Given the description of an element on the screen output the (x, y) to click on. 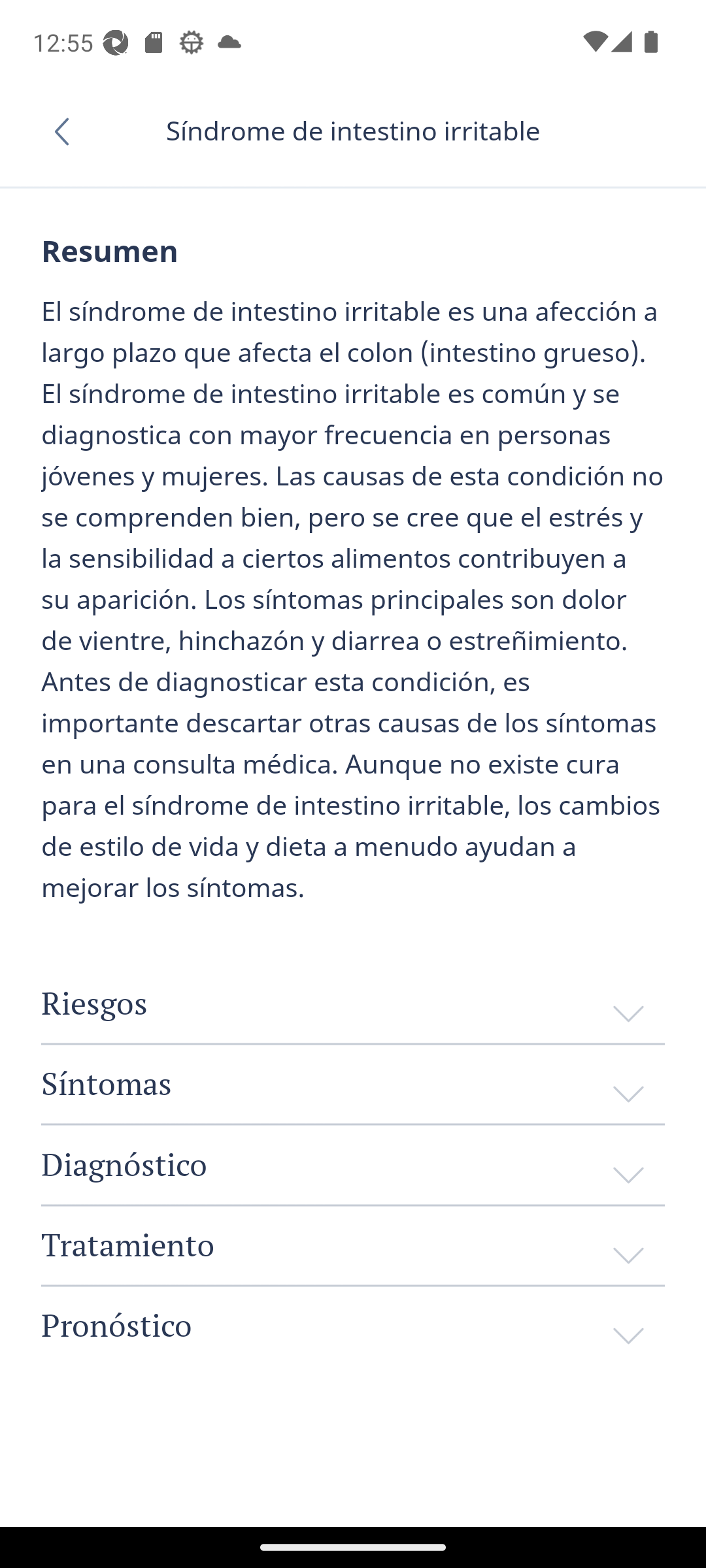
Go back, Navigates to the previous screen (68, 131)
Riesgos  (352, 1003)
Síntomas  (352, 1083)
Diagnóstico  (352, 1164)
Tratamiento  (352, 1244)
Pronóstico  (352, 1324)
